Given the description of an element on the screen output the (x, y) to click on. 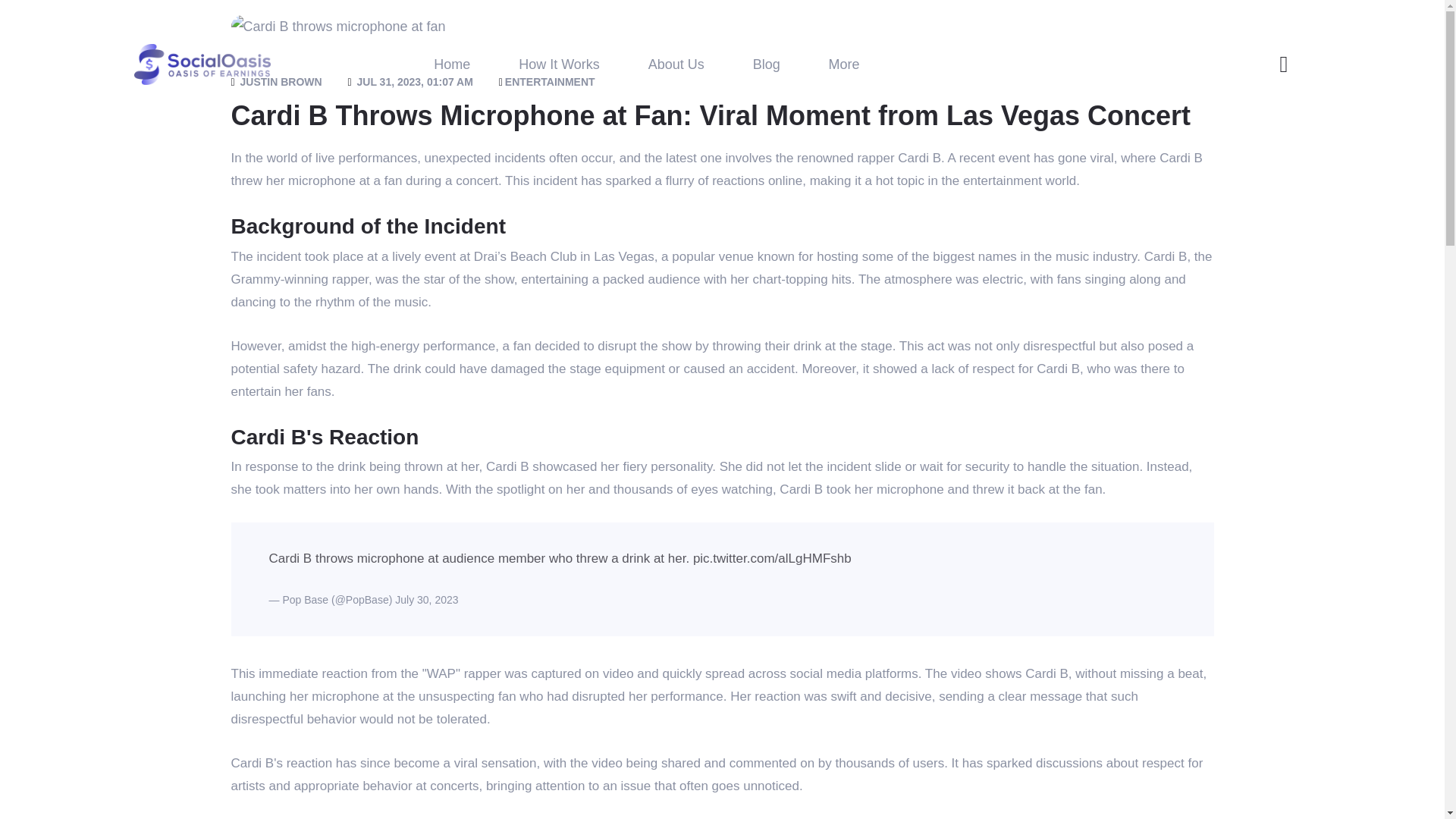
ENTERTAINMENT (547, 81)
July 30, 2023 (426, 599)
How It Works (558, 64)
